Given the description of an element on the screen output the (x, y) to click on. 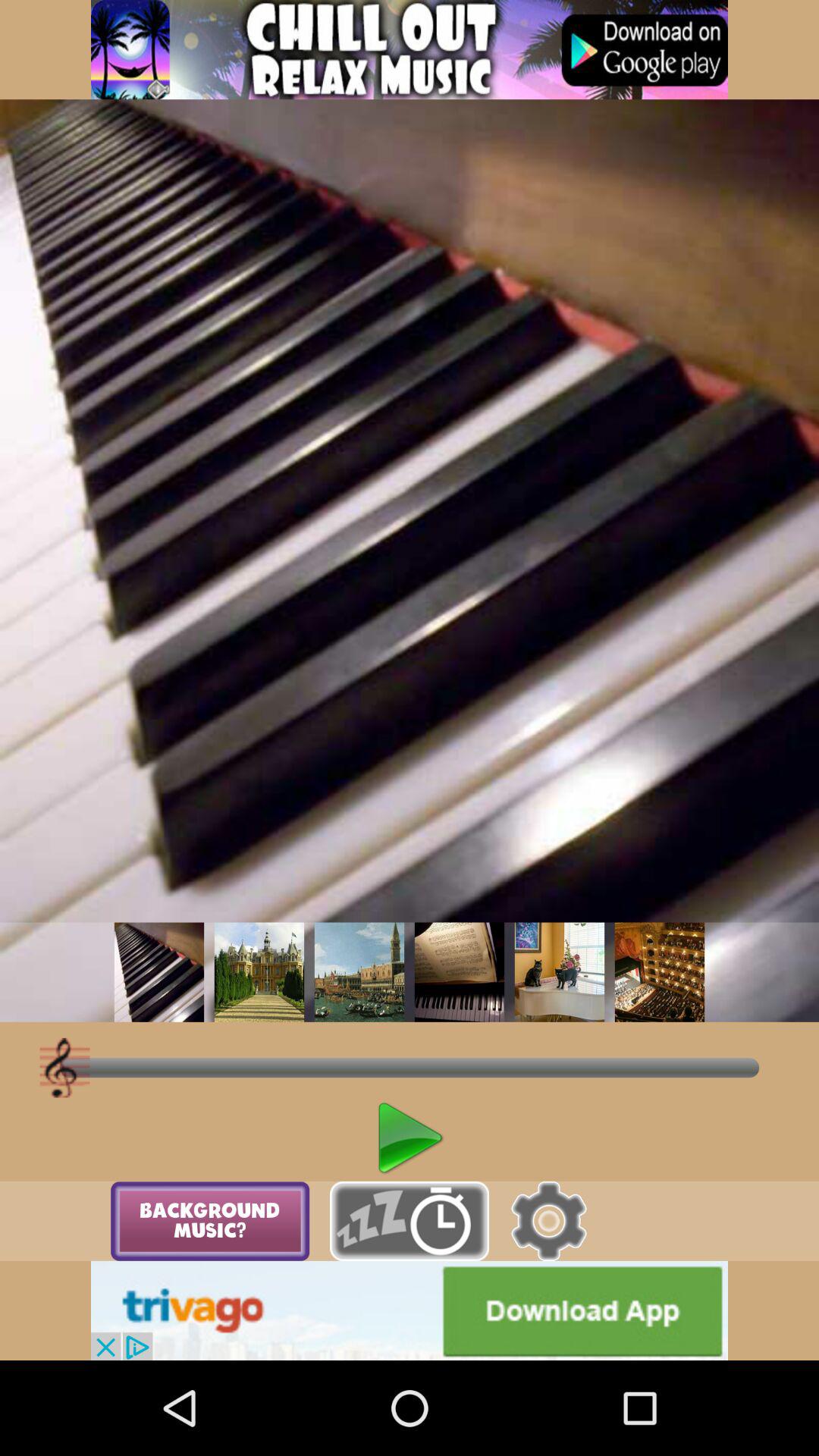
open settings (548, 1220)
